Given the description of an element on the screen output the (x, y) to click on. 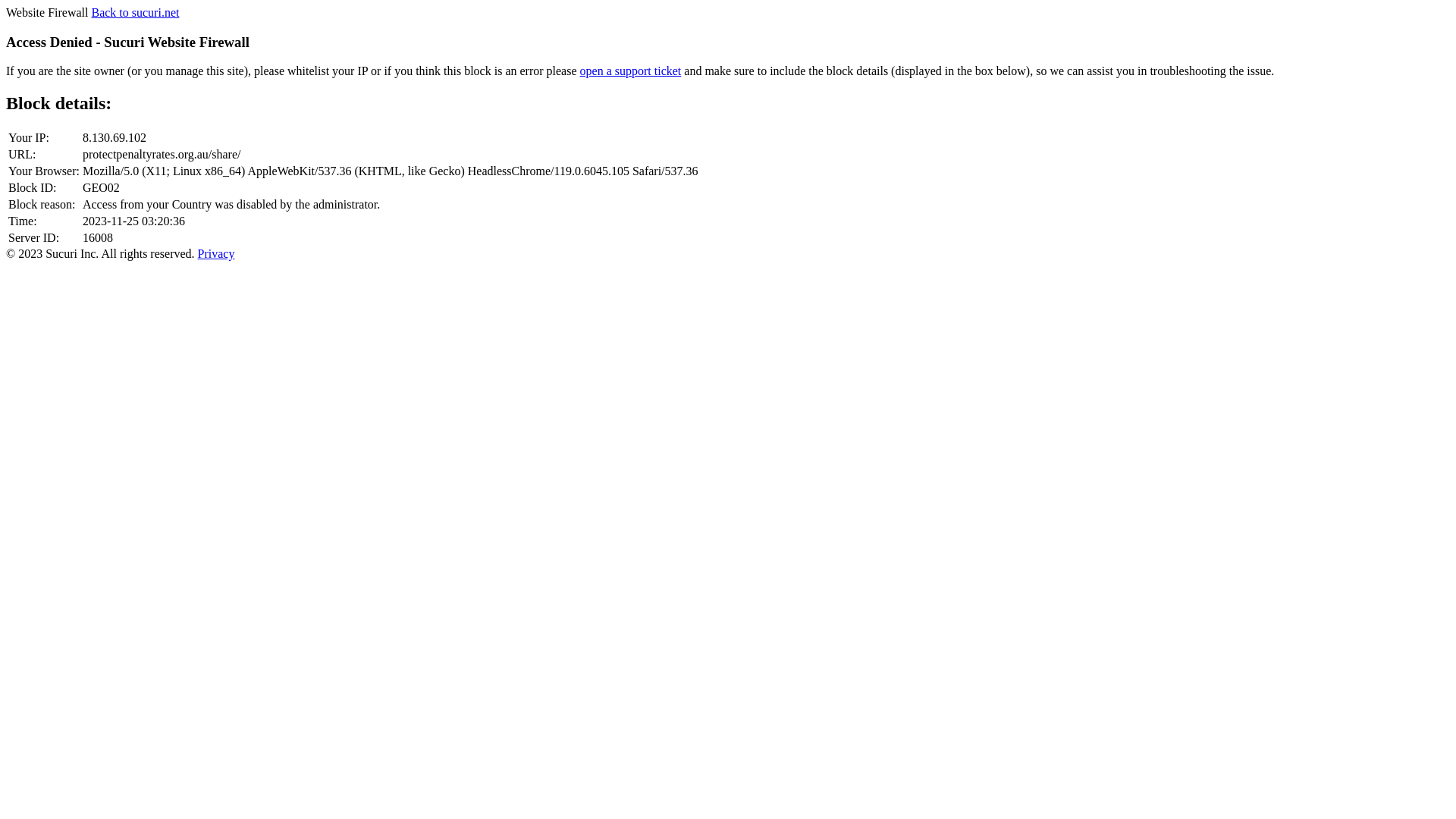
Privacy Element type: text (216, 253)
open a support ticket Element type: text (630, 70)
Back to sucuri.net Element type: text (134, 12)
